Given the description of an element on the screen output the (x, y) to click on. 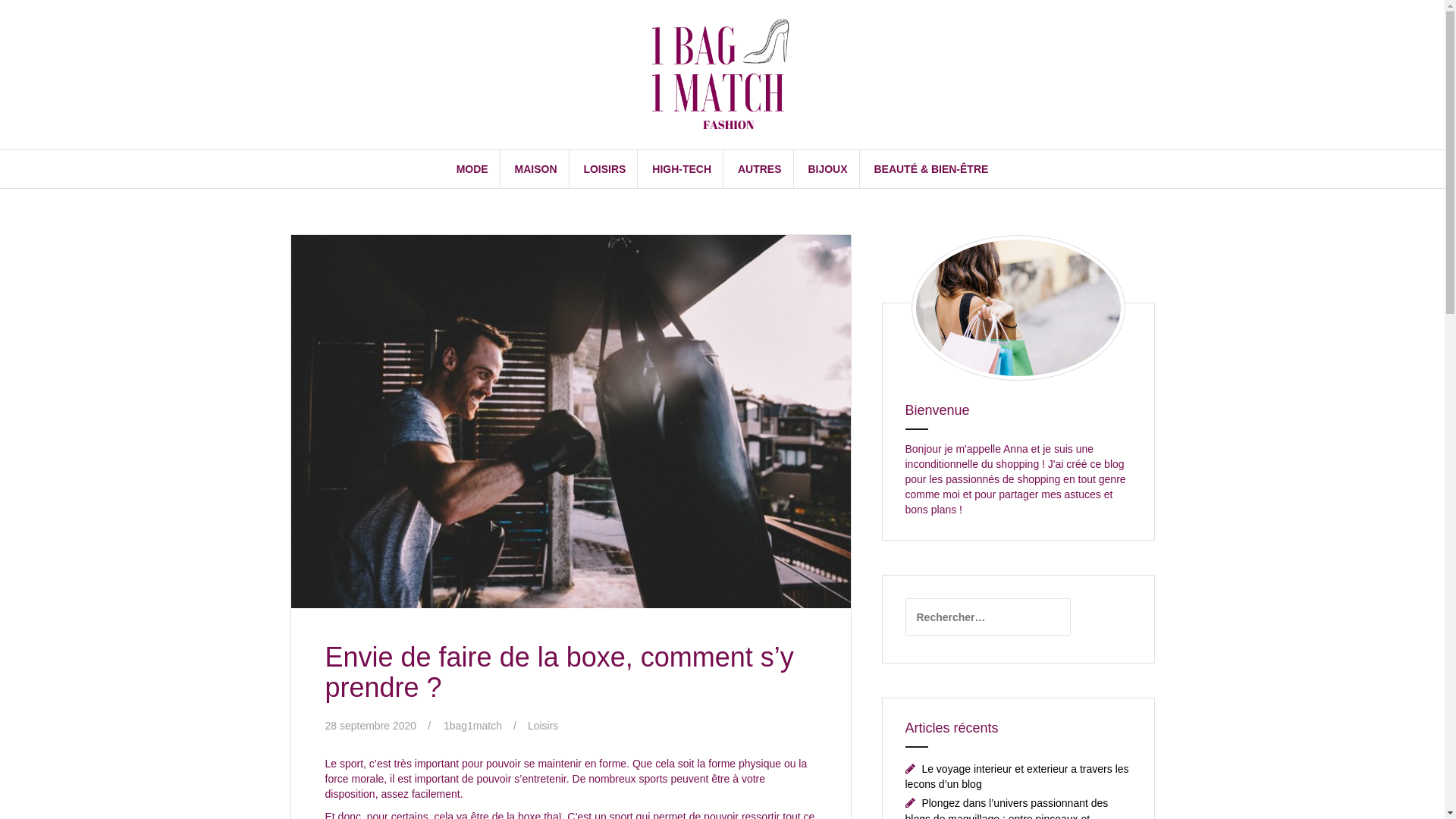
AUTRES Element type: text (759, 168)
28 septembre 2020 Element type: text (370, 725)
BIJOUX Element type: text (827, 168)
MAISON Element type: text (535, 168)
LOISIRS Element type: text (604, 168)
Loisirs Element type: text (542, 725)
1bag1match Element type: text (472, 725)
Rechercher Element type: text (40, 18)
HIGH-TECH Element type: text (681, 168)
MODE Element type: text (472, 168)
